Given the description of an element on the screen output the (x, y) to click on. 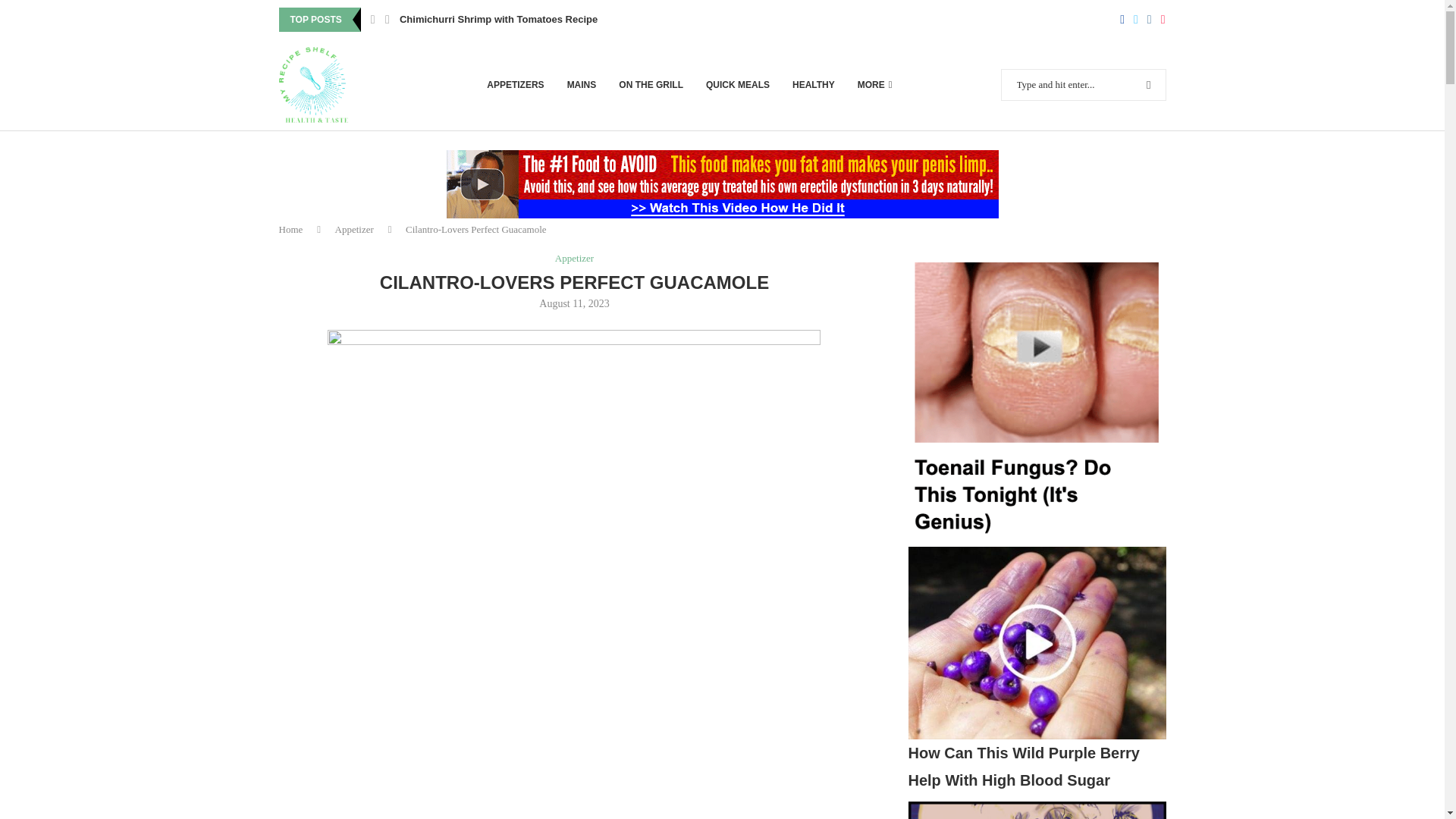
Search (1117, 6)
Chimichurri Shrimp with Tomatoes Recipe (497, 19)
